Given the description of an element on the screen output the (x, y) to click on. 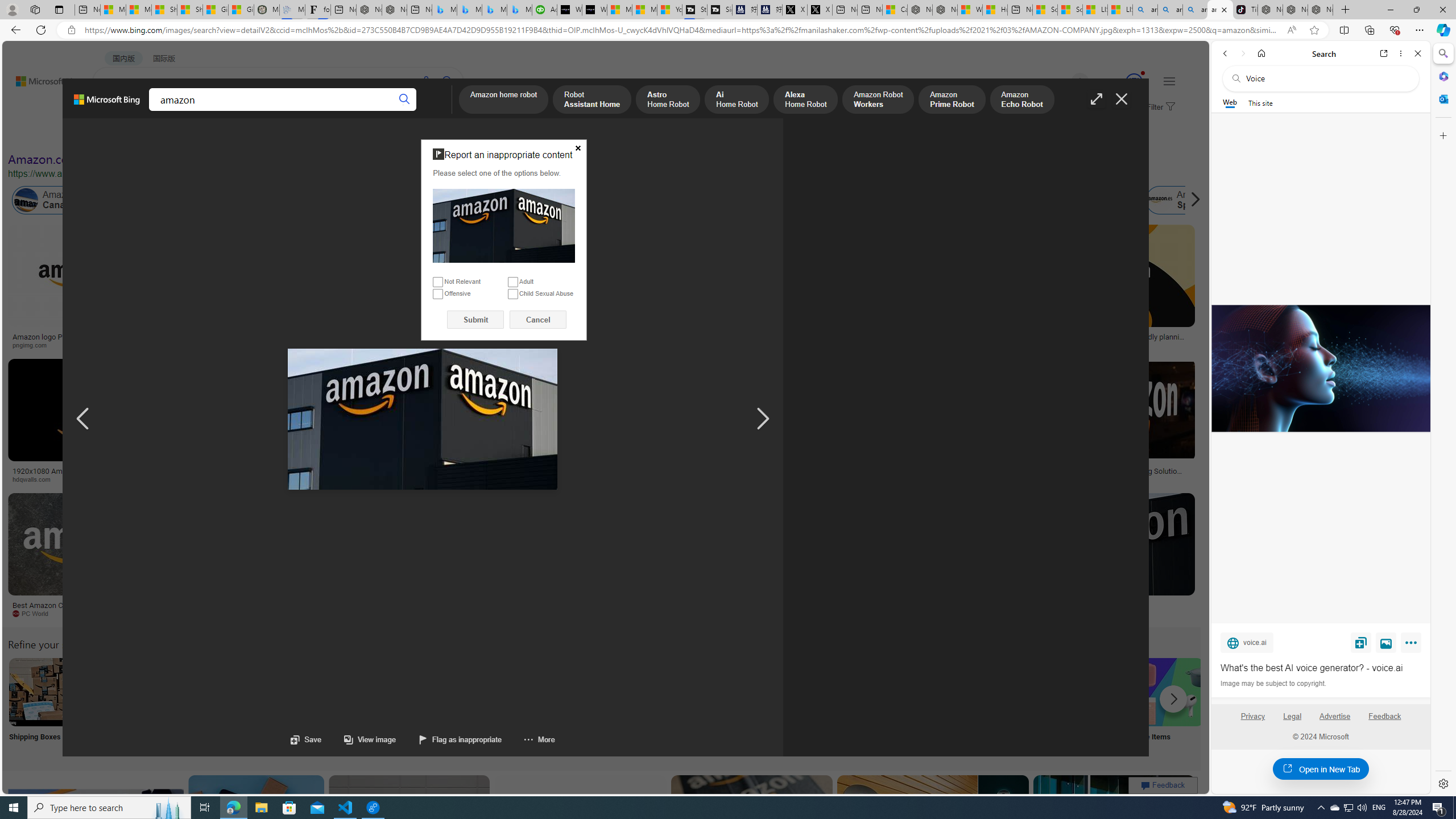
3d illustration of amazon logo 18779928 PNG (939, 474)
Clip Art (192, 706)
Search button (404, 99)
Alexa Home Robot (805, 100)
Report an inappropriate content (503, 226)
Class: b_pri_nav_svg (191, 112)
hdqwalls.com (96, 479)
Amazon Logo (PNG e SVG) Download Vetorial Transparente (783, 340)
Alexa Smart Home Devices (673, 332)
theverge.com (1118, 344)
Amazon Sale Items Sale Items (1169, 706)
